Given the description of an element on the screen output the (x, y) to click on. 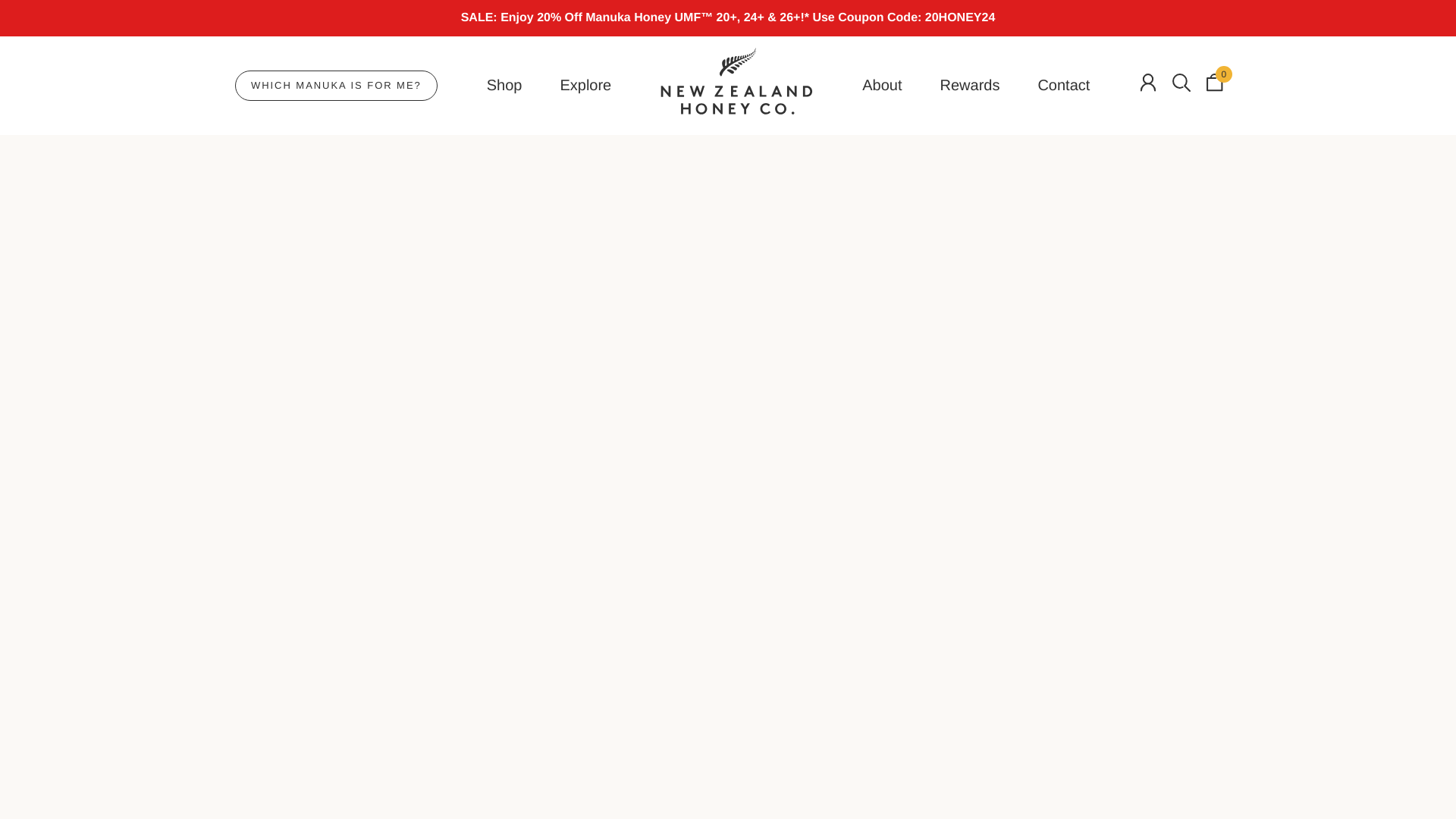
Explore (585, 85)
Rewards (968, 85)
Contact (1062, 85)
About (881, 85)
WHICH MANUKA IS FOR ME? (336, 85)
Explore (585, 85)
